Given the description of an element on the screen output the (x, y) to click on. 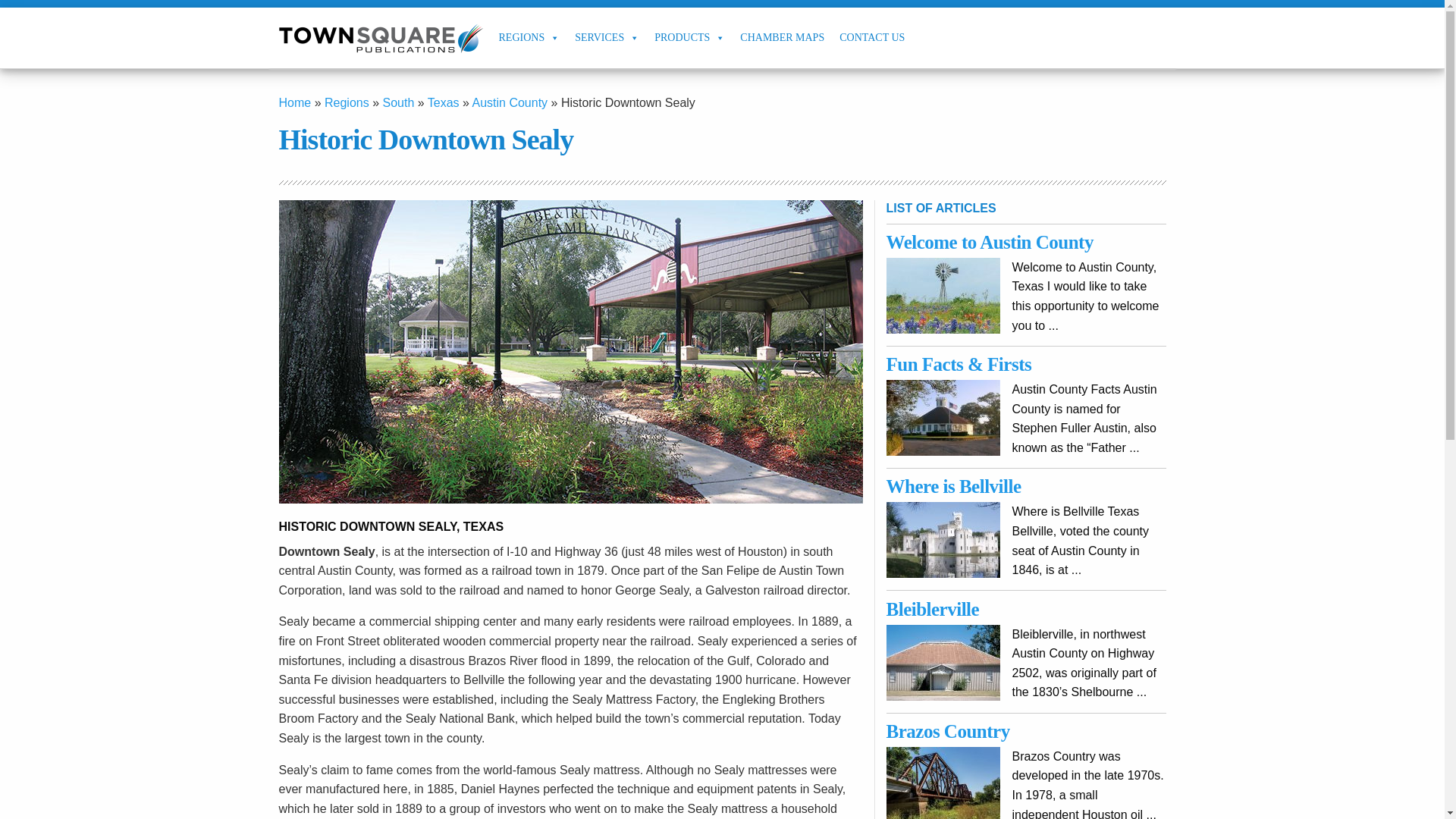
SERVICES (606, 37)
South (397, 102)
Austin County (509, 102)
REGIONS (529, 37)
Welcome to Austin County (989, 241)
CONTACT US (871, 37)
CHAMBER MAPS (781, 37)
PRODUCTS (689, 37)
Where is Bellville (954, 485)
Bleiblerville (932, 608)
Brazos Country (948, 731)
Home (295, 102)
Texas (444, 102)
Regions (346, 102)
